Given the description of an element on the screen output the (x, y) to click on. 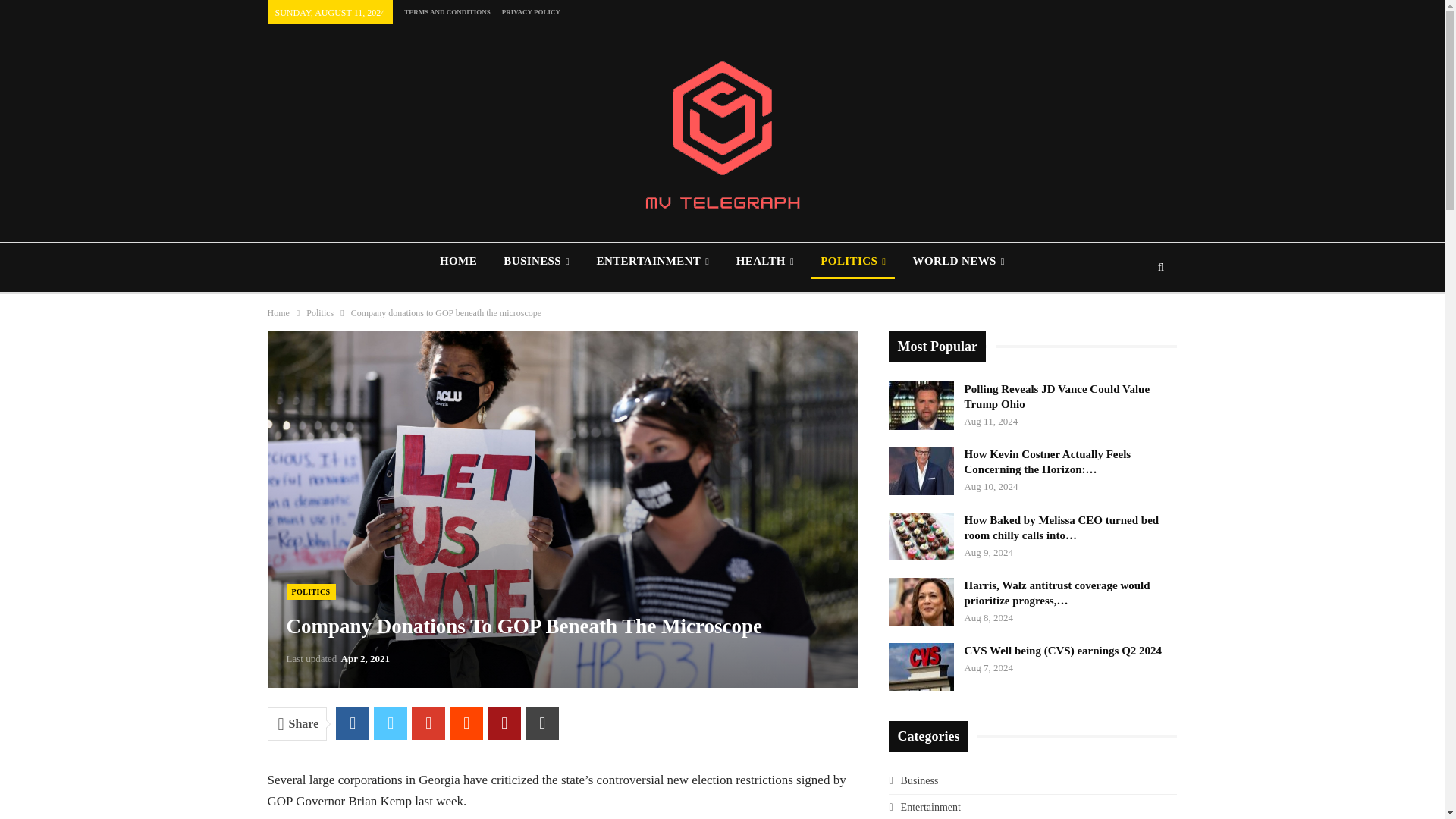
PRIVACY POLICY (531, 11)
BUSINESS (536, 260)
HOME (458, 260)
ENTERTAINMENT (651, 260)
HEALTH (764, 260)
TERMS AND CONDITIONS (447, 11)
